Given the description of an element on the screen output the (x, y) to click on. 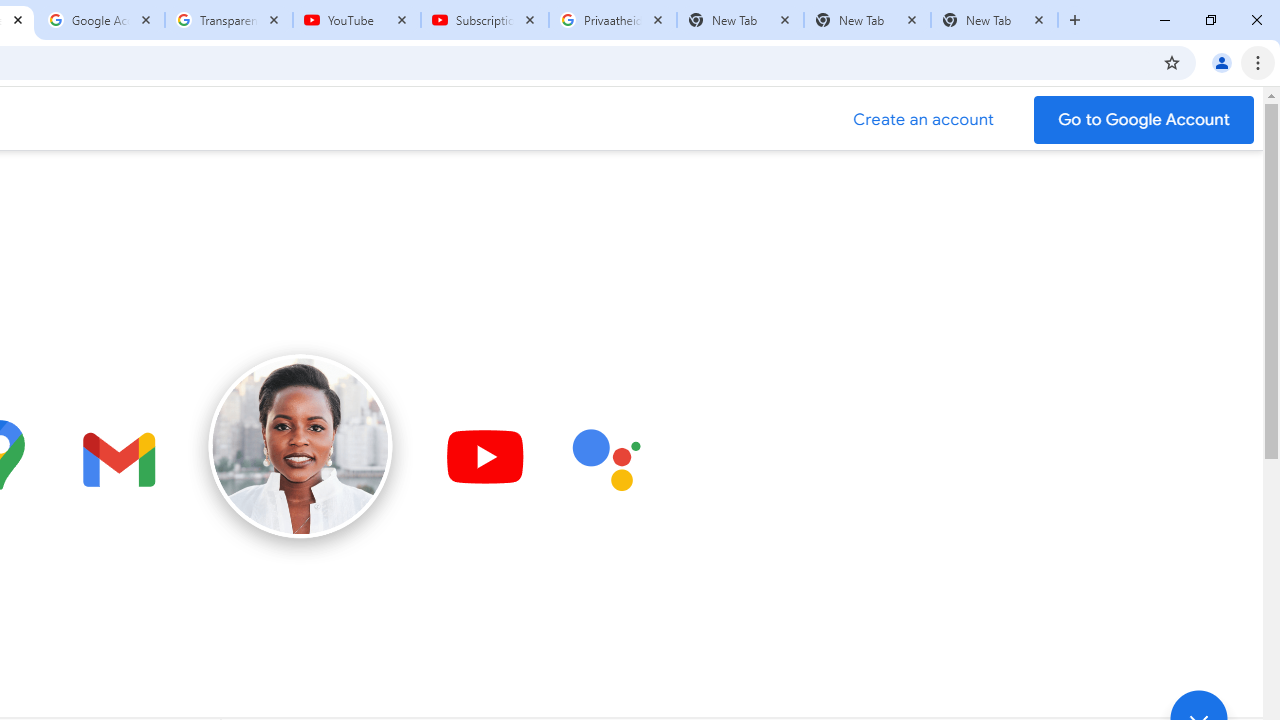
Sign in (875, 32)
